Given the description of an element on the screen output the (x, y) to click on. 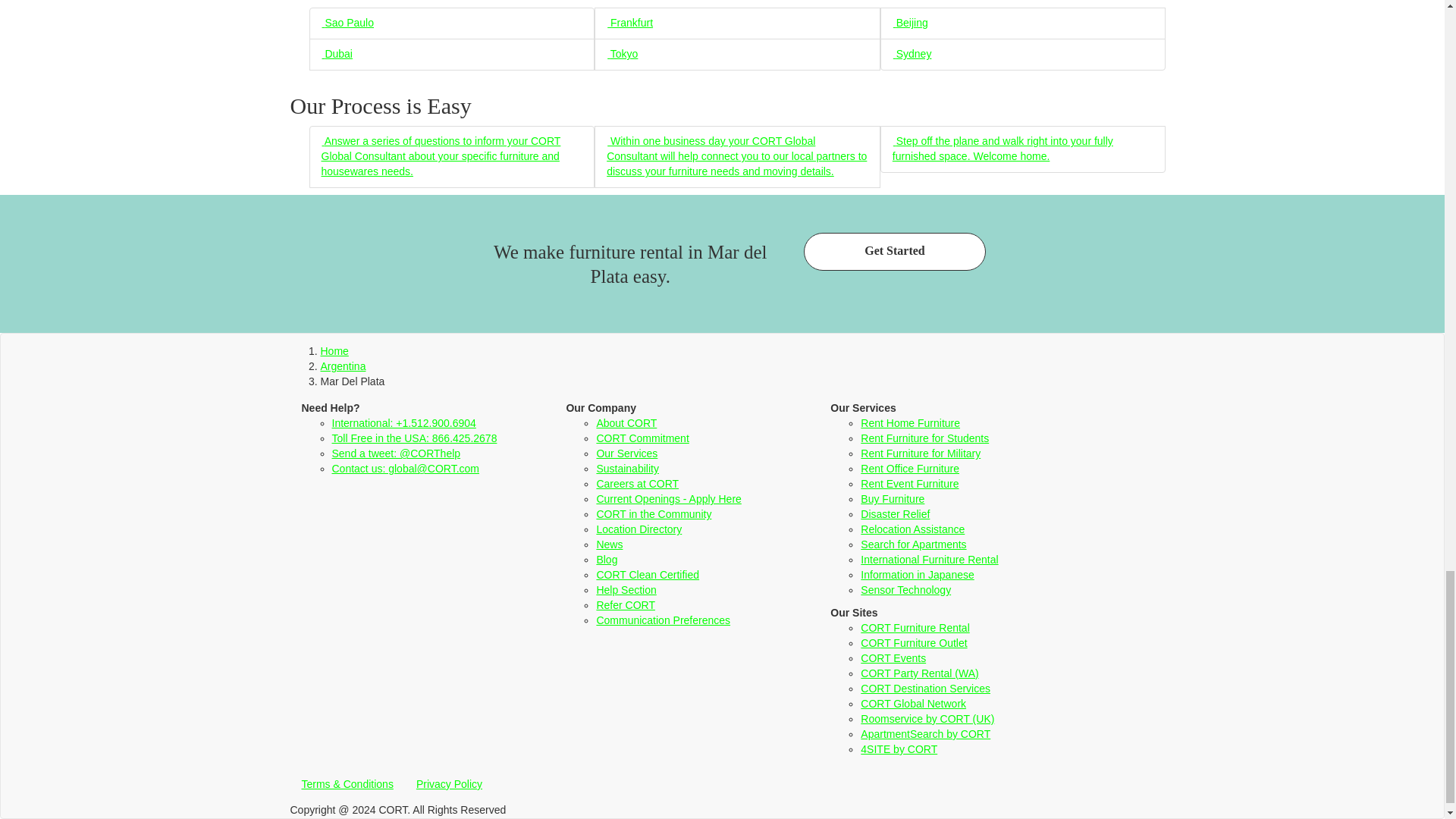
Tokyo (622, 53)
Sao Paulo (347, 22)
Dubai (336, 53)
Frankfurt (629, 22)
Get Started (894, 251)
Argentina (342, 366)
Sydney (911, 53)
Beijing (910, 22)
